Given the description of an element on the screen output the (x, y) to click on. 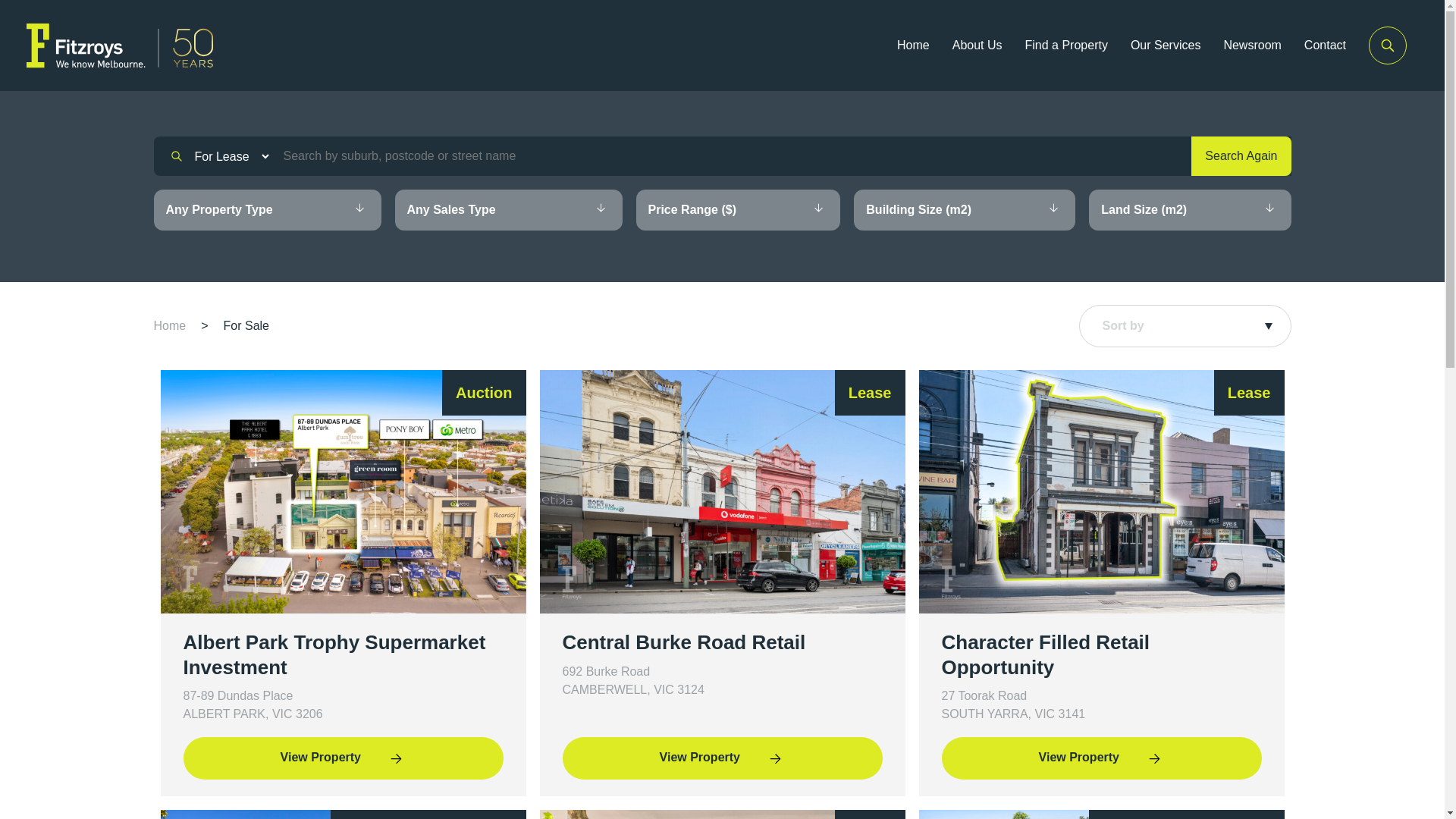
Find a Property Element type: text (1066, 45)
Home Element type: text (169, 325)
Building Size (m2) Element type: text (964, 209)
About Us Element type: text (977, 45)
Contact Element type: text (1324, 45)
Home Element type: text (913, 45)
Land Size (m2) Element type: text (1189, 209)
Our Services Element type: text (1165, 45)
Search Again Element type: text (1240, 155)
Newsroom Element type: text (1251, 45)
Price Range ($) Element type: text (737, 209)
